Given the description of an element on the screen output the (x, y) to click on. 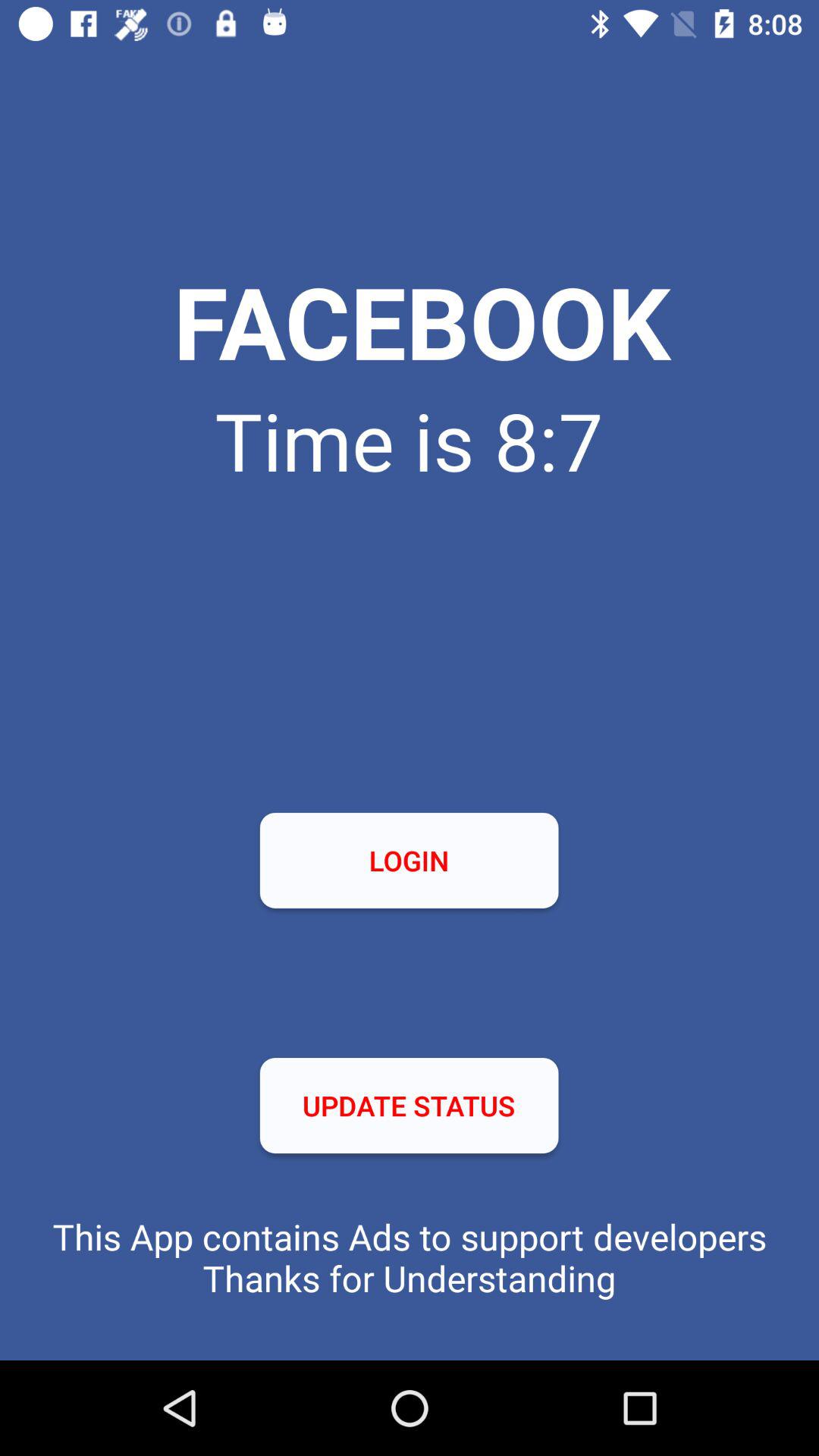
open login (408, 860)
